Given the description of an element on the screen output the (x, y) to click on. 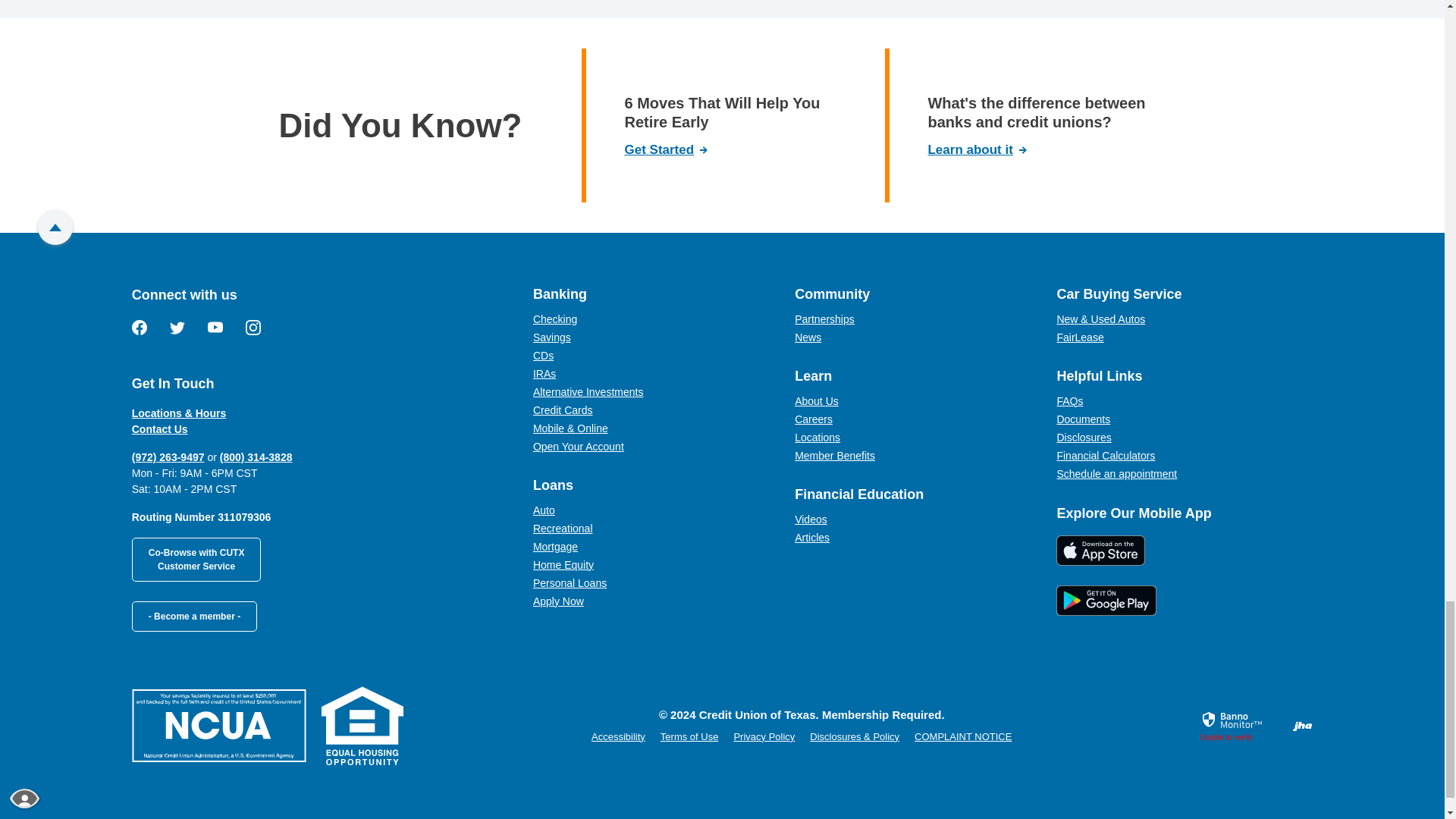
Scanned by Banno Monitor (1232, 720)
Created by Banno (1302, 725)
NCUA (218, 725)
Equal Housing Lender (362, 724)
